Given the description of an element on the screen output the (x, y) to click on. 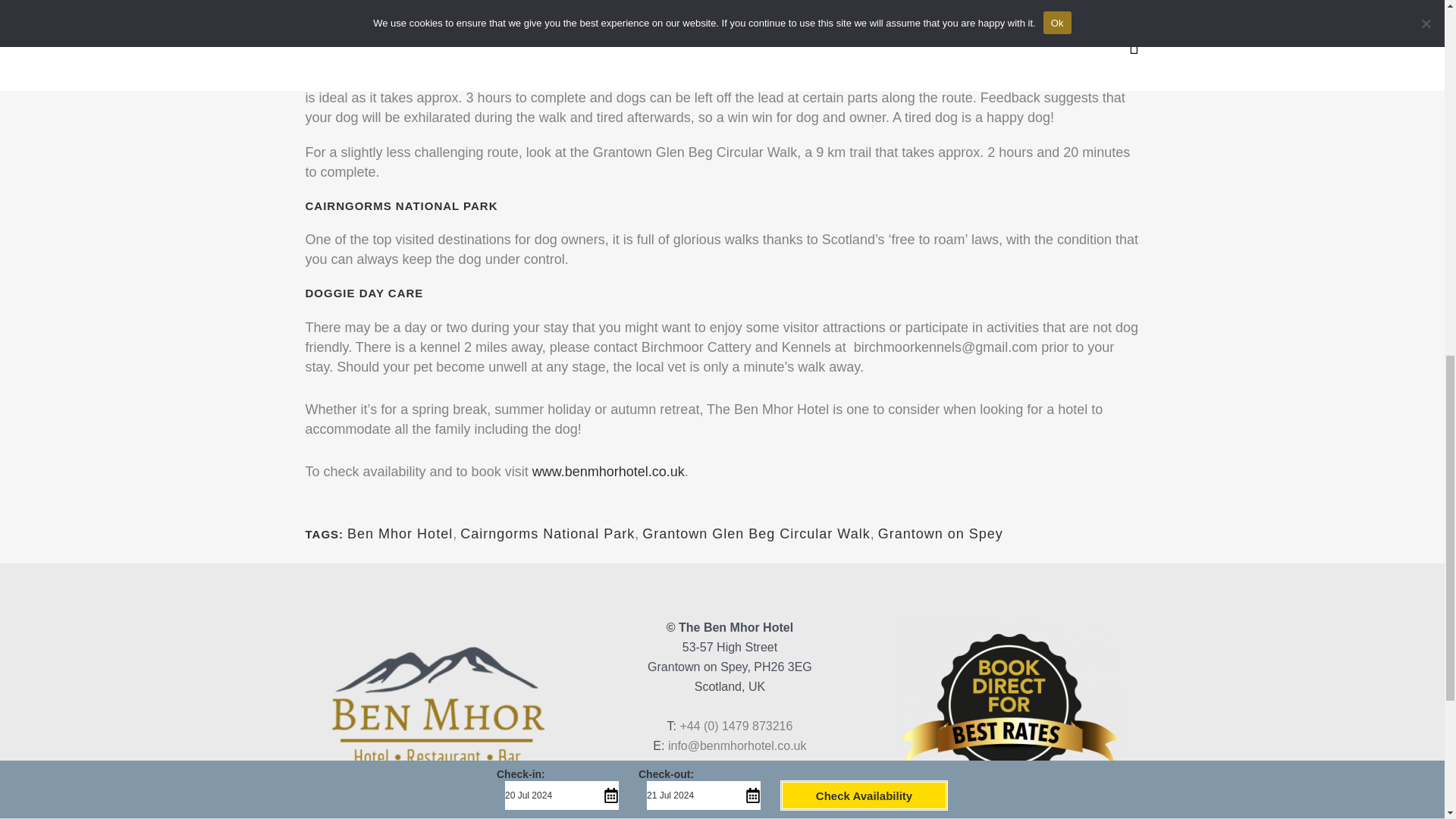
Grantown Glen Beg Circular Walk (755, 533)
Grantown on Spey (940, 533)
Cairngorms National Park (547, 533)
Ben Mhor Hotel (399, 533)
www.benmhorhotel.co.uk (608, 471)
